Given the description of an element on the screen output the (x, y) to click on. 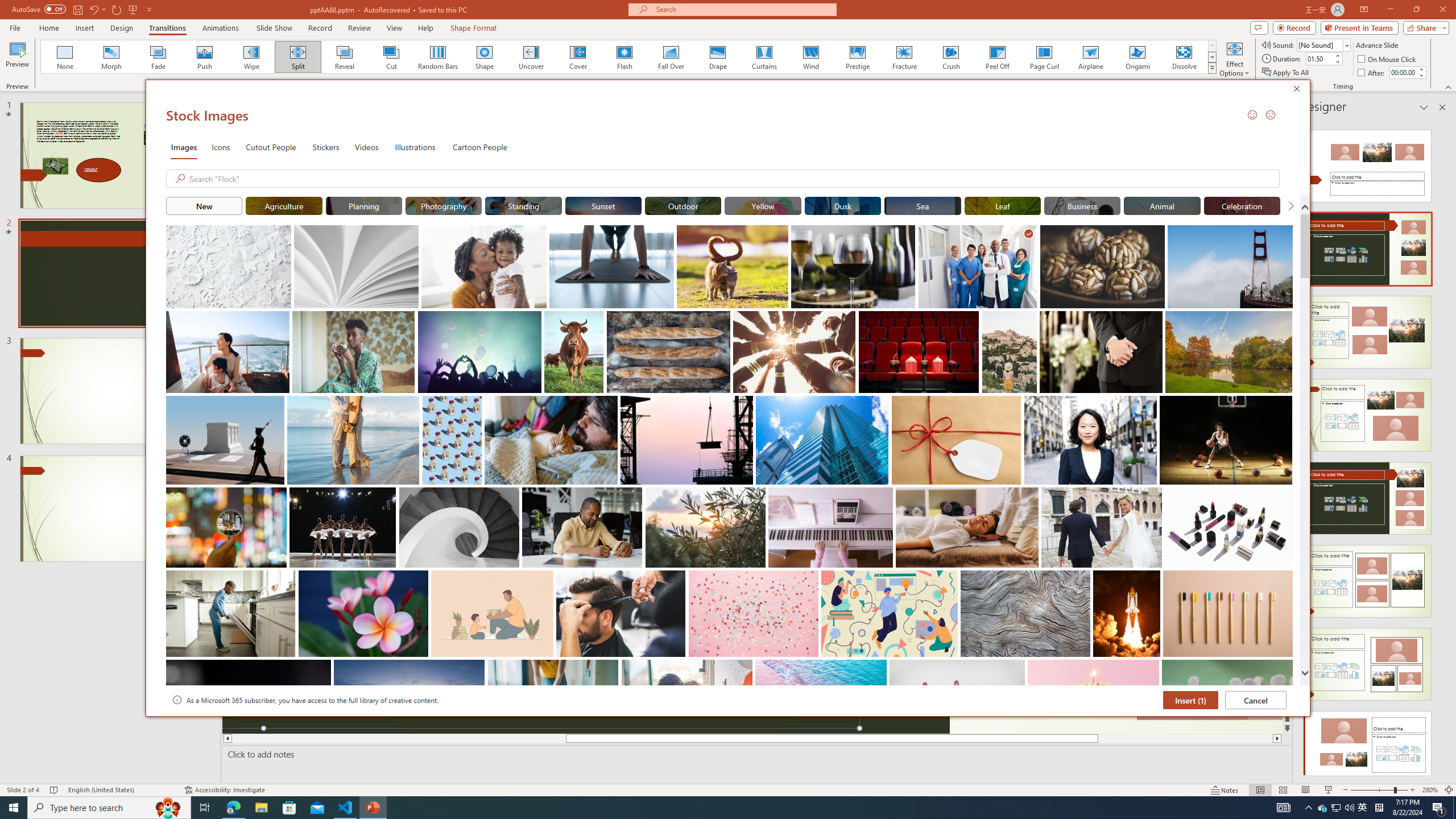
"Dusk" Stock Images. (842, 205)
AutomationID: AnimationTransitionGallery (628, 56)
Origami (1136, 56)
Less (1420, 75)
Zoom In (1412, 790)
Shape (484, 56)
Present in Teams (1359, 27)
AutoSave (38, 9)
Row up (1212, 45)
